Given the description of an element on the screen output the (x, y) to click on. 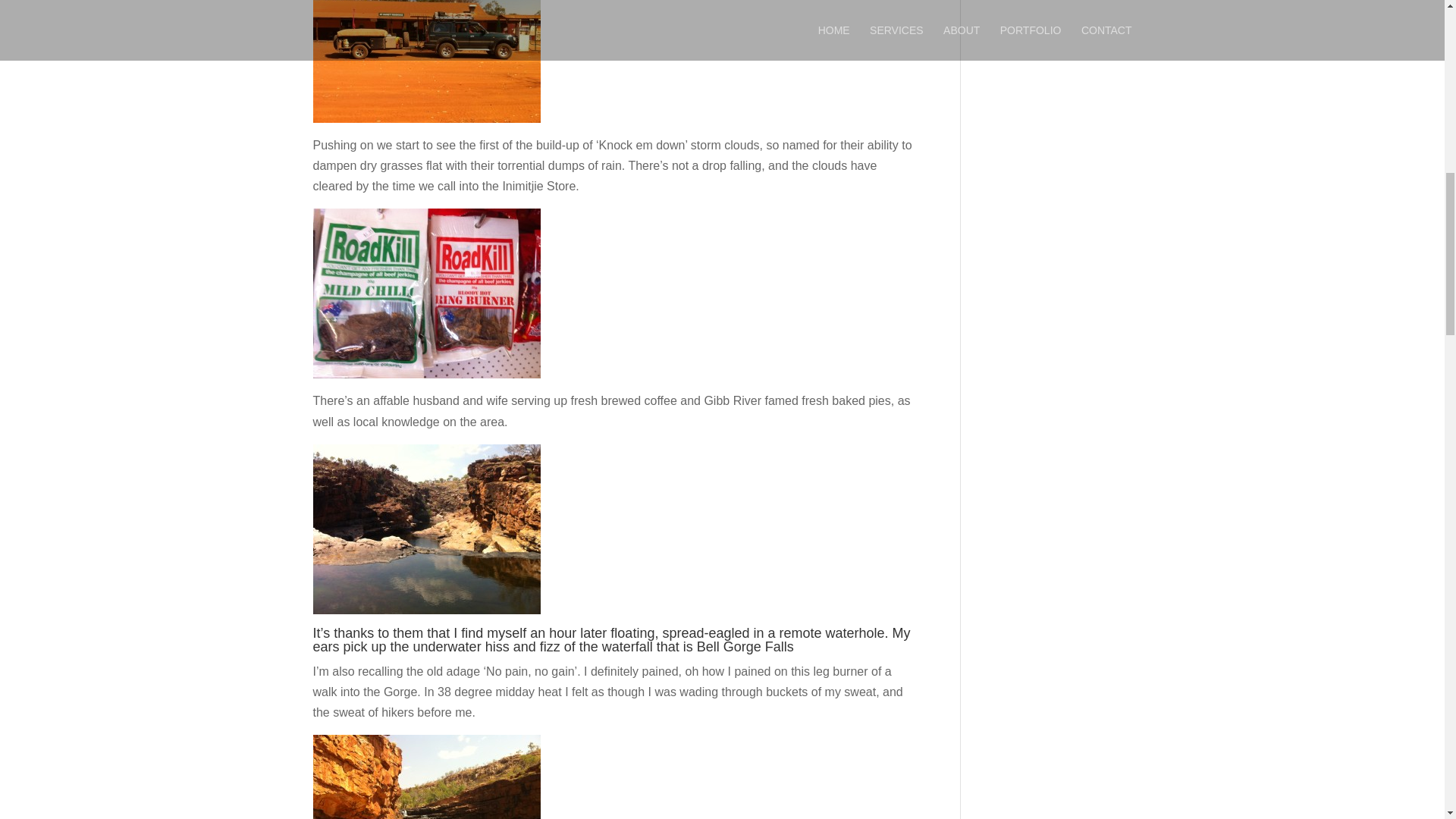
Bell Gorge Falls (745, 646)
